Given the description of an element on the screen output the (x, y) to click on. 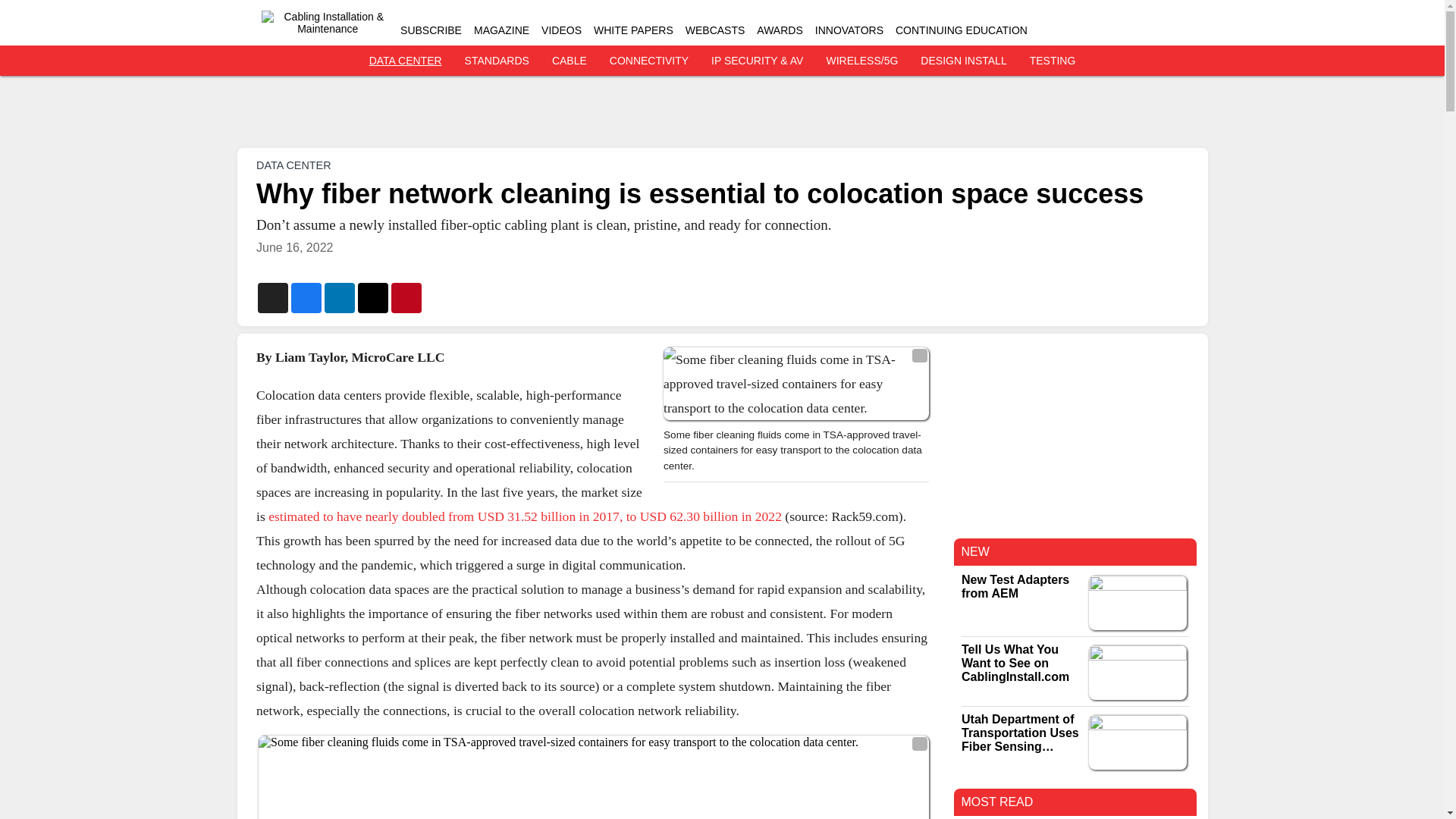
VIDEOS (560, 30)
DESIGN INSTALL (963, 60)
DATA CENTER (293, 164)
INNOVATORS (849, 30)
WHITE PAPERS (633, 30)
SUBSCRIBE (430, 30)
TESTING (1052, 60)
DATA CENTER (405, 60)
AWARDS (779, 30)
CONNECTIVITY (649, 60)
New Test Adapters from AEM (1019, 586)
WEBCASTS (715, 30)
CONTINUING EDUCATION (961, 30)
STANDARDS (496, 60)
